Given the description of an element on the screen output the (x, y) to click on. 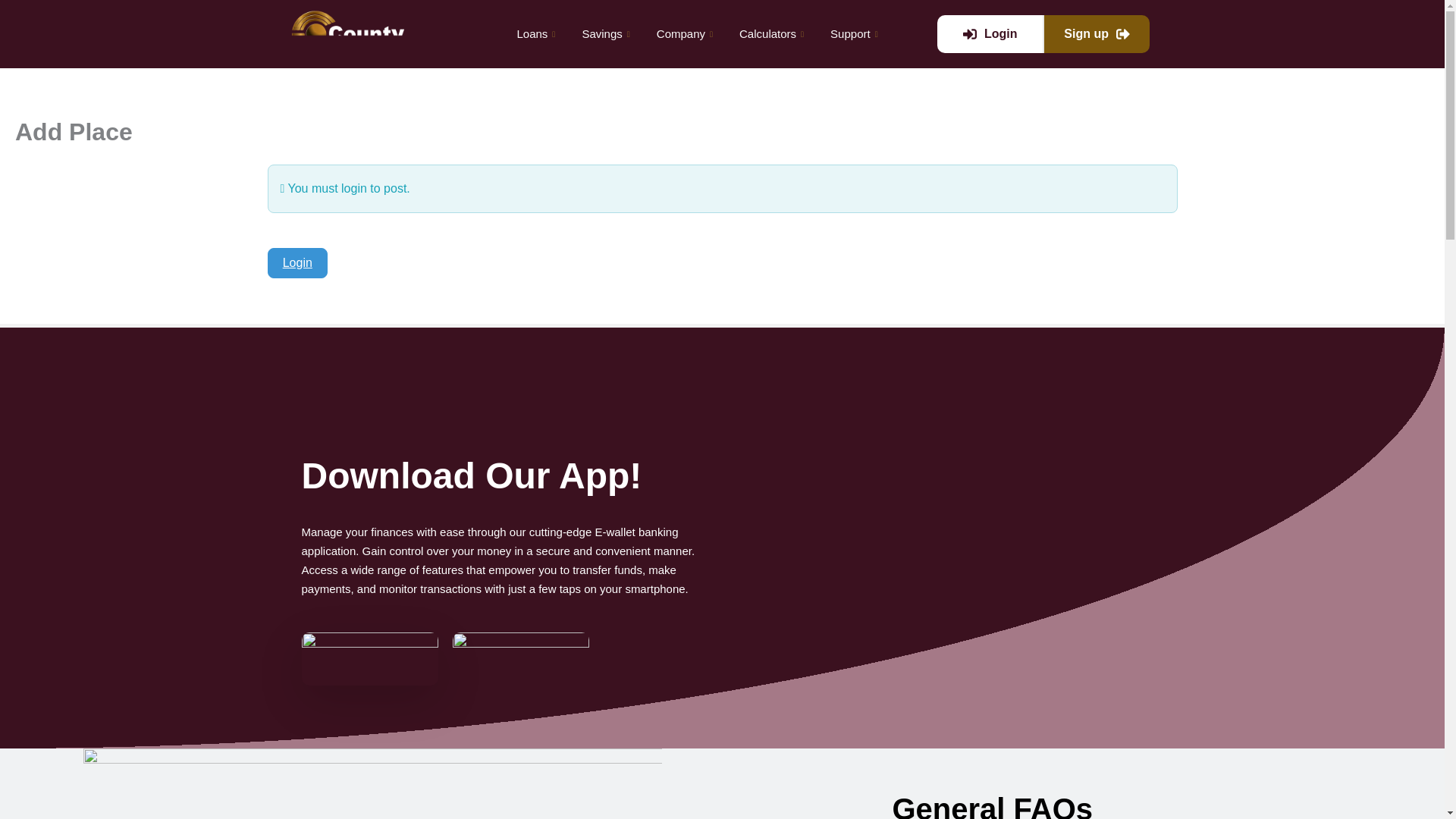
Company (686, 33)
Calculators (773, 33)
Login (296, 263)
Loans (537, 33)
Sign up (1096, 34)
Login (990, 34)
Savings (607, 33)
Support (855, 33)
Login (296, 263)
